Given the description of an element on the screen output the (x, y) to click on. 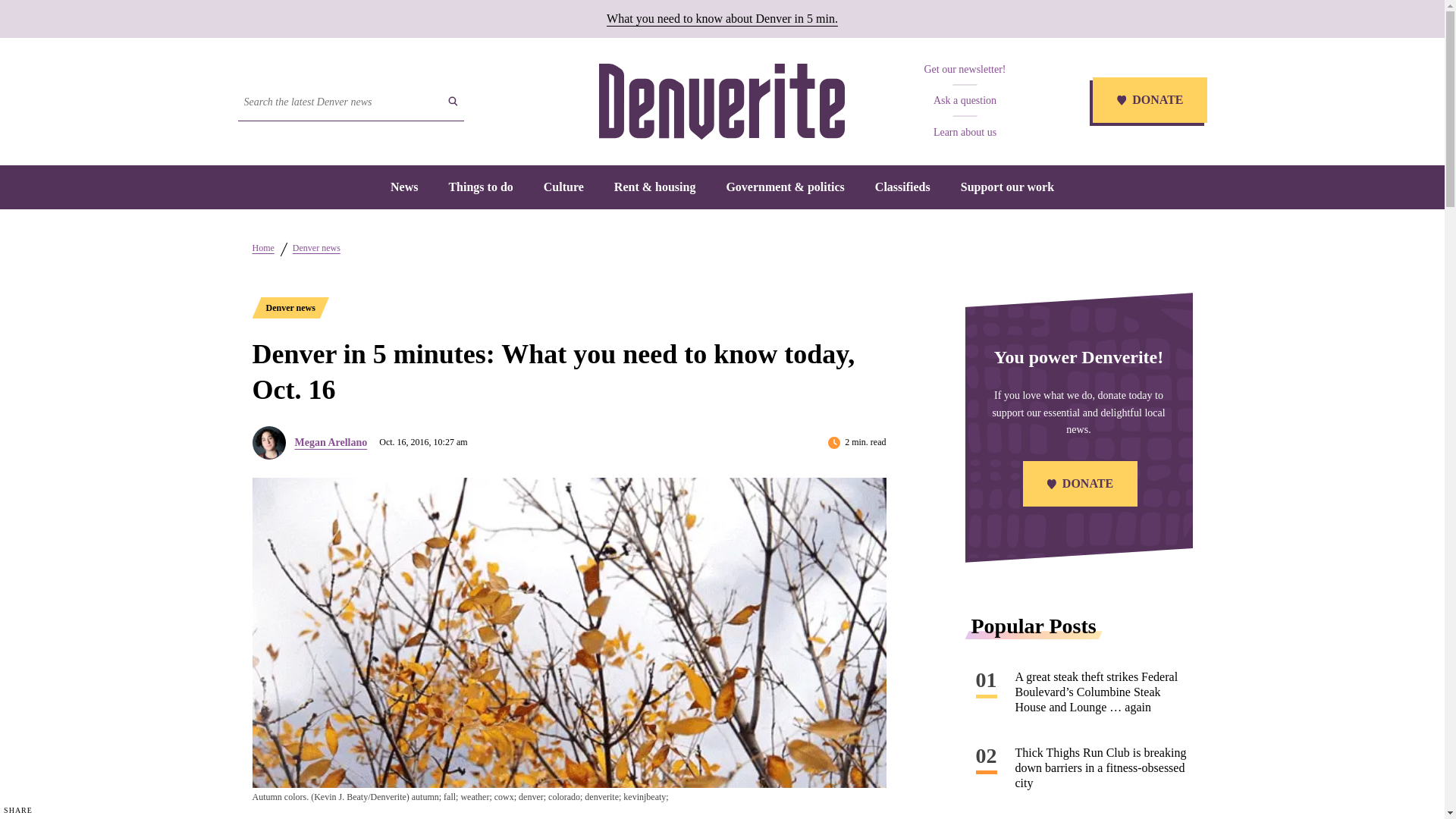
Denverite (721, 101)
Get our newsletter! (964, 69)
Things to do (480, 186)
Denver news (290, 307)
DONATE (1148, 101)
What you need to know about Denver in 5 min. (722, 18)
Denver news (316, 247)
Home (262, 247)
Ask a question (964, 100)
Culture (563, 186)
